Given the description of an element on the screen output the (x, y) to click on. 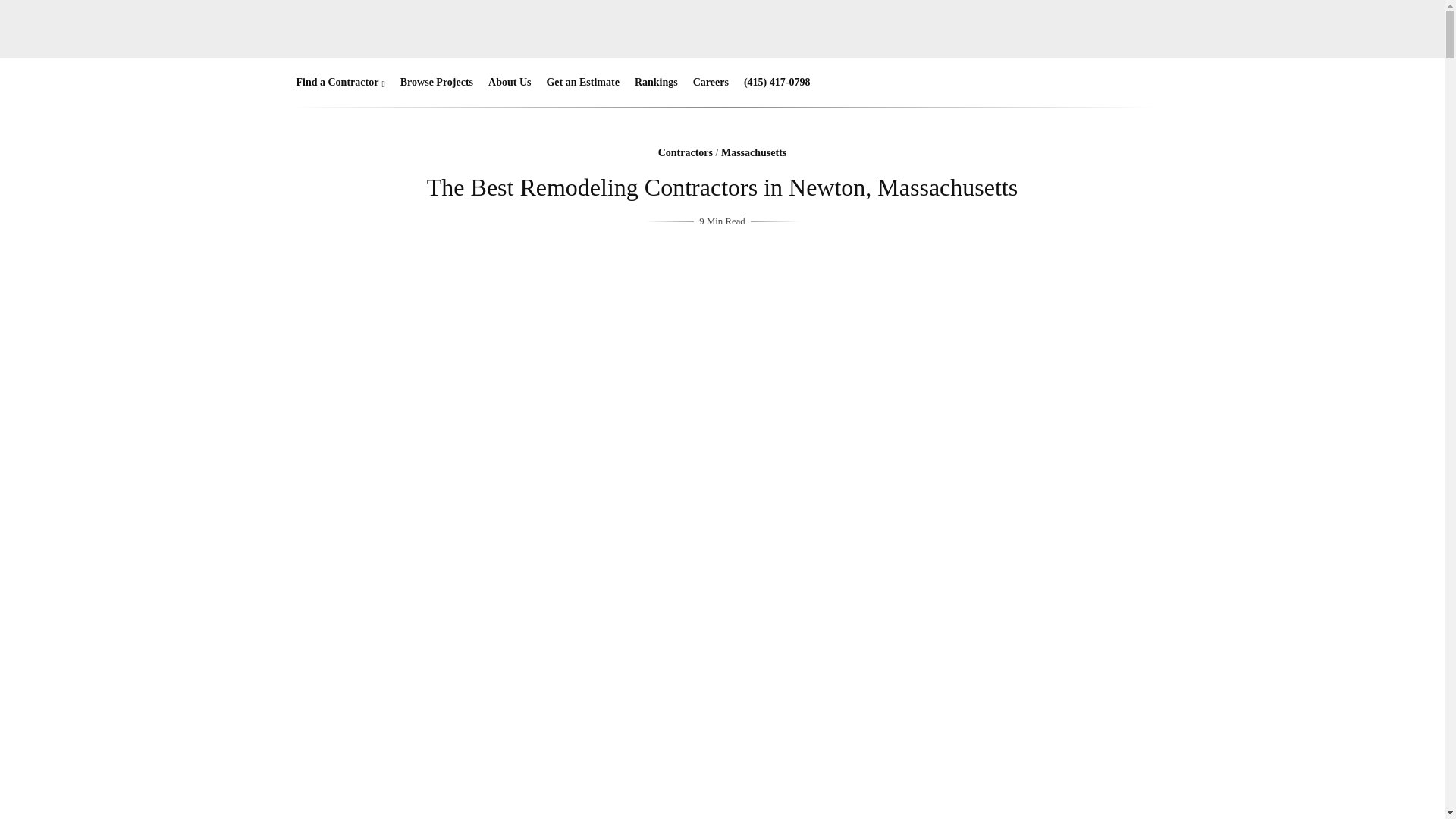
Find a Contractor (333, 82)
About Us (509, 82)
Browse Projects (436, 82)
Contractors (685, 152)
Rankings (656, 82)
Massachusetts (753, 152)
Get an Estimate (582, 82)
Careers (711, 82)
